Given the description of an element on the screen output the (x, y) to click on. 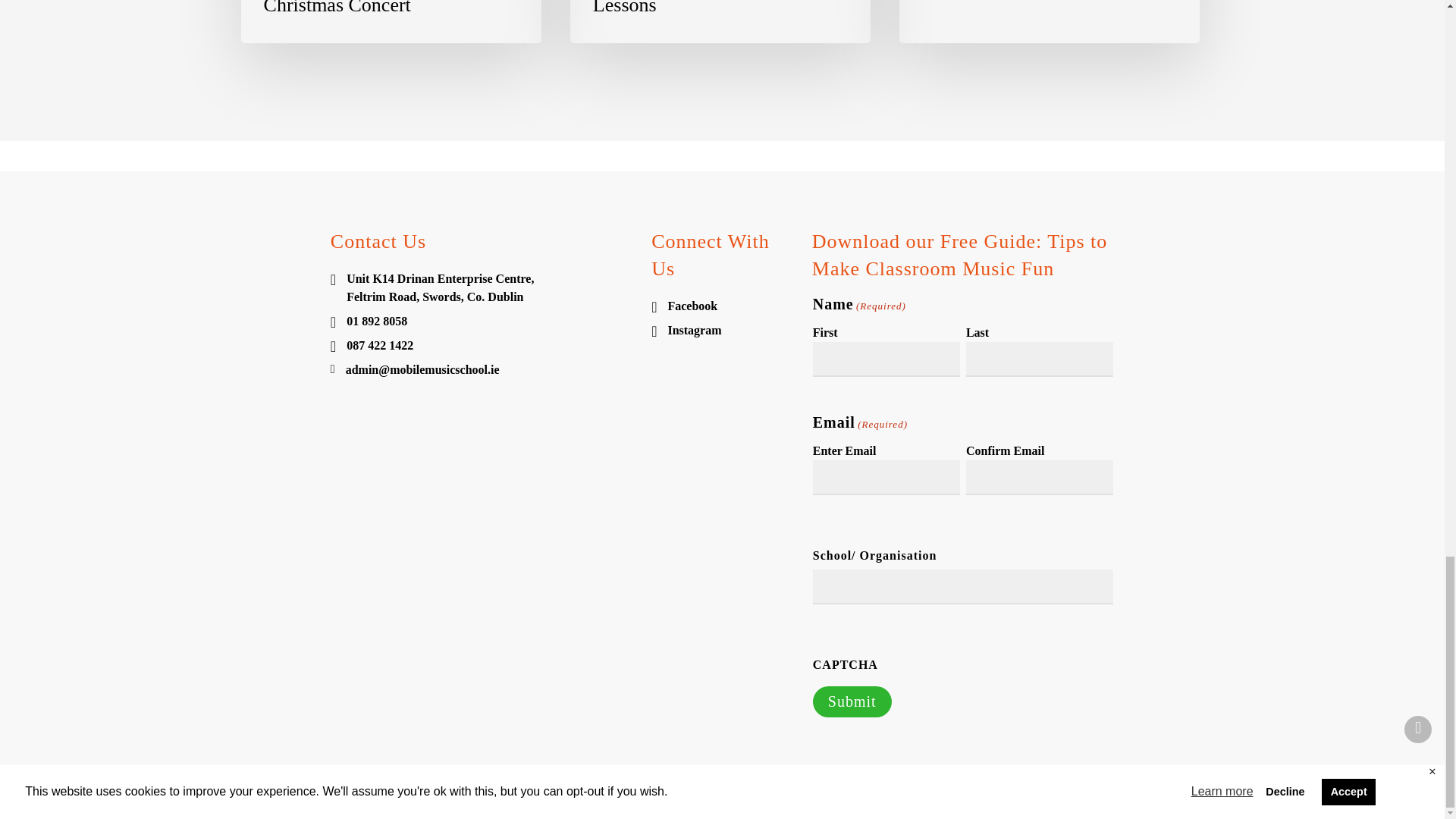
Instagram (721, 330)
Phone (480, 345)
Location (480, 288)
Submit (851, 701)
087 422 1422 (480, 345)
Phone (480, 321)
Email (480, 370)
Facebook (721, 306)
01 892 8058 (480, 321)
